Given the description of an element on the screen output the (x, y) to click on. 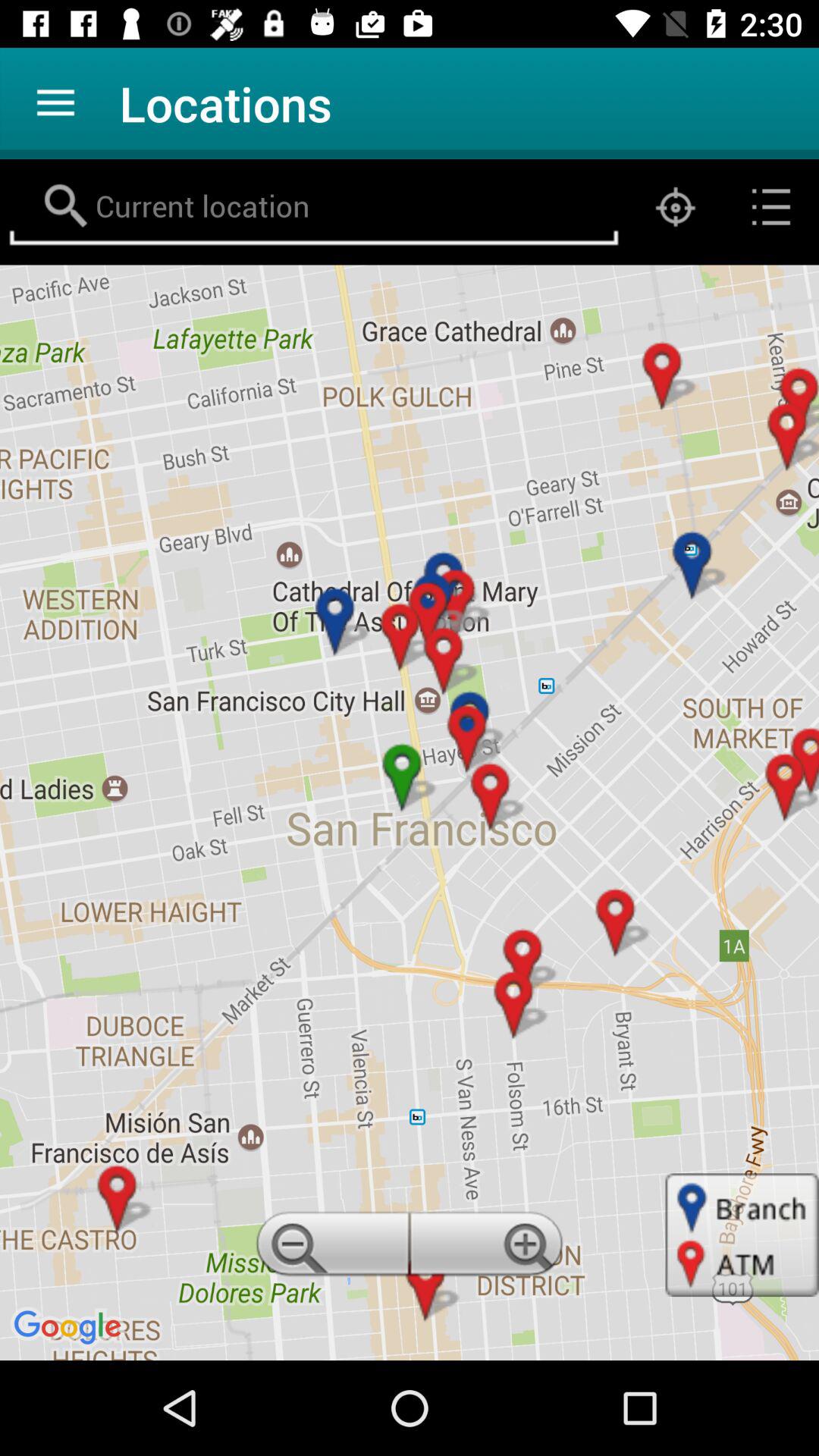
tap app to the left of locations (55, 103)
